Given the description of an element on the screen output the (x, y) to click on. 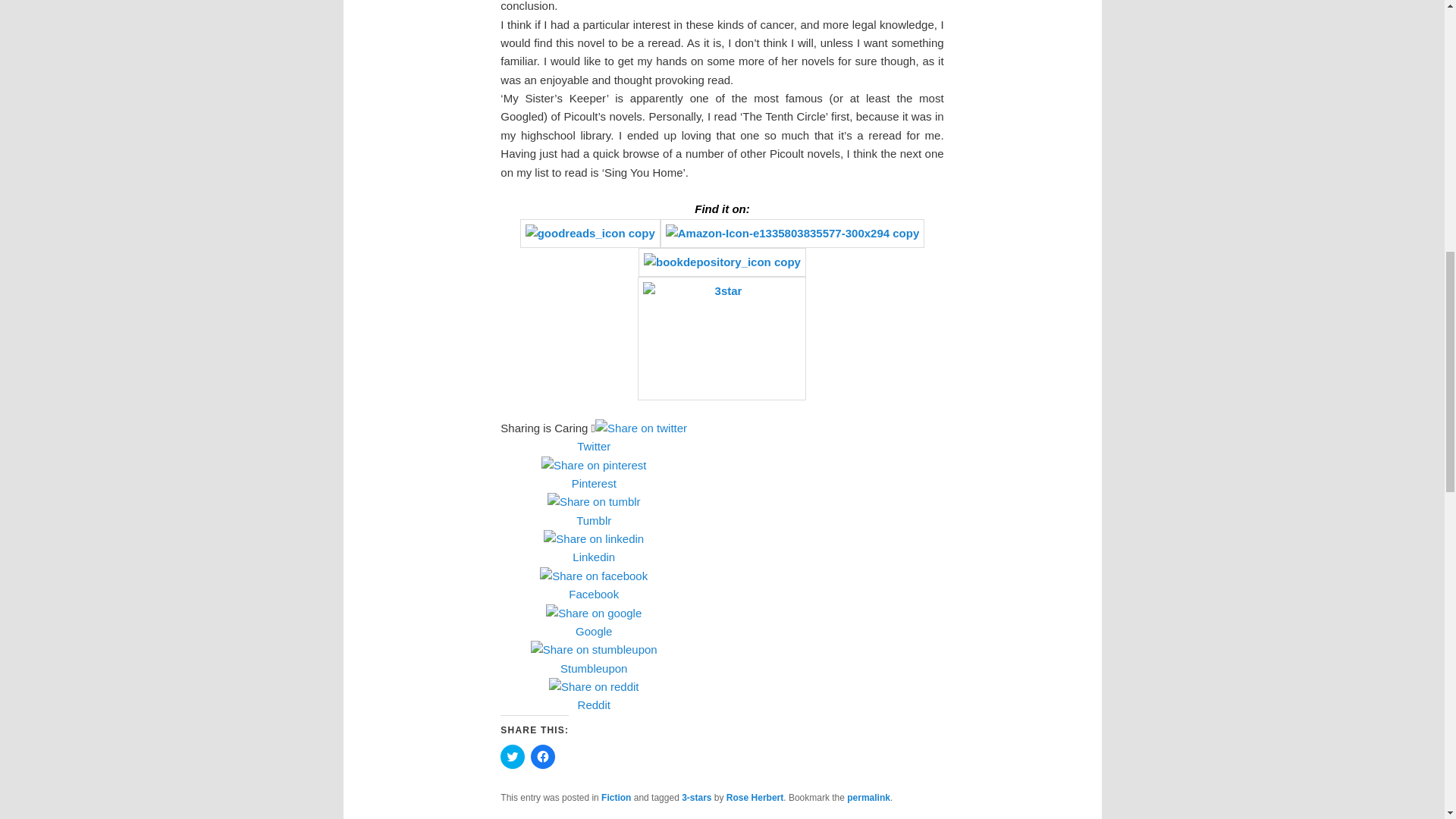
linkedin (593, 538)
permalink (868, 797)
Pinterest (593, 482)
stumbleupon (594, 649)
Google (593, 631)
Facebook (593, 594)
Tumblr (593, 520)
Twitter (593, 446)
Tumblr (593, 520)
Fiction (615, 797)
Stumbleupon (593, 667)
Stumbleupon (593, 669)
tumblr (593, 502)
twitter (641, 428)
Pinterest (593, 484)
